Given the description of an element on the screen output the (x, y) to click on. 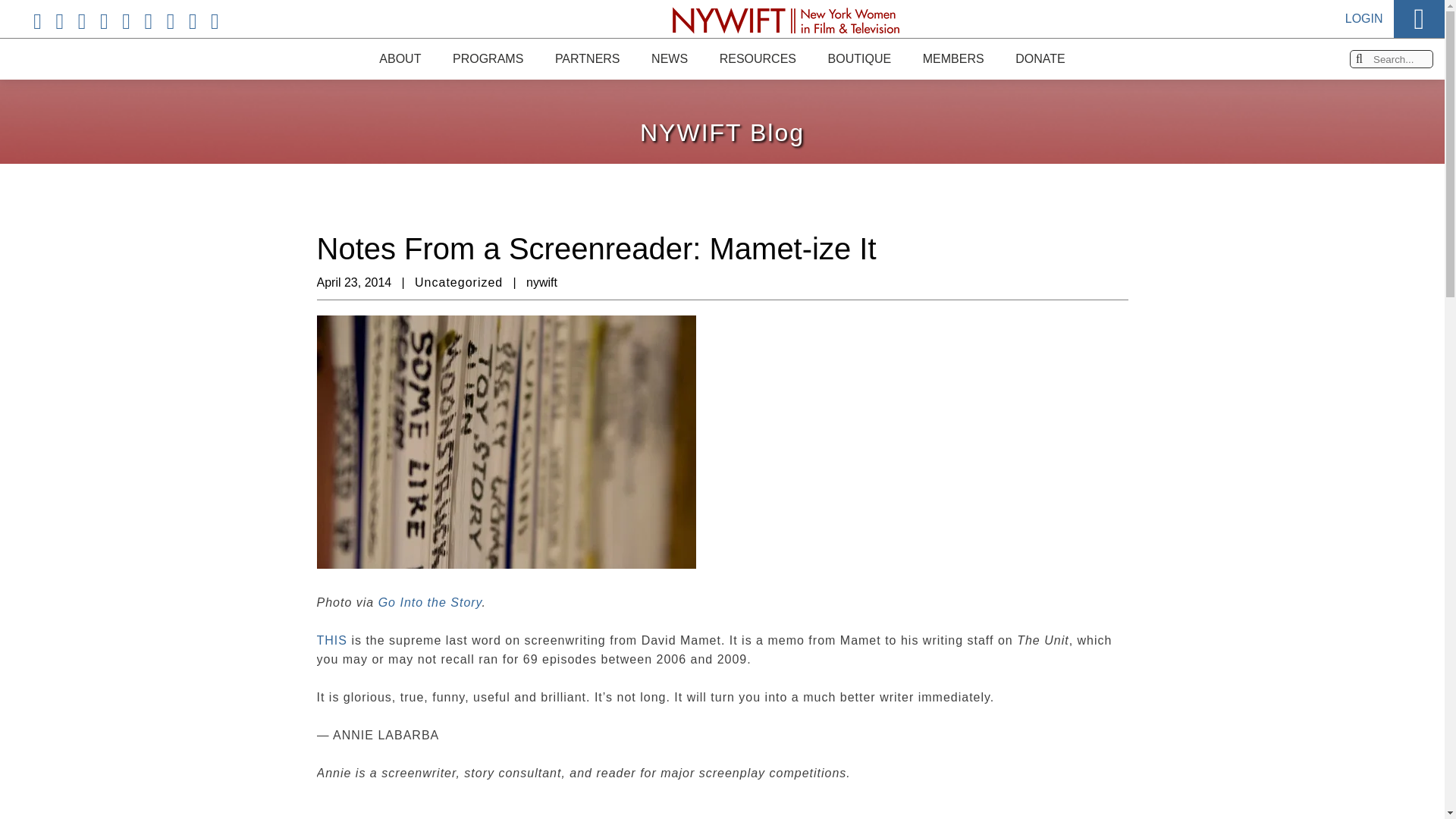
PARTNERS (587, 58)
PROGRAMS (488, 58)
ABOUT (399, 55)
RESOURCES (757, 58)
LOGIN (1364, 11)
NEWS (669, 58)
